Given the description of an element on the screen output the (x, y) to click on. 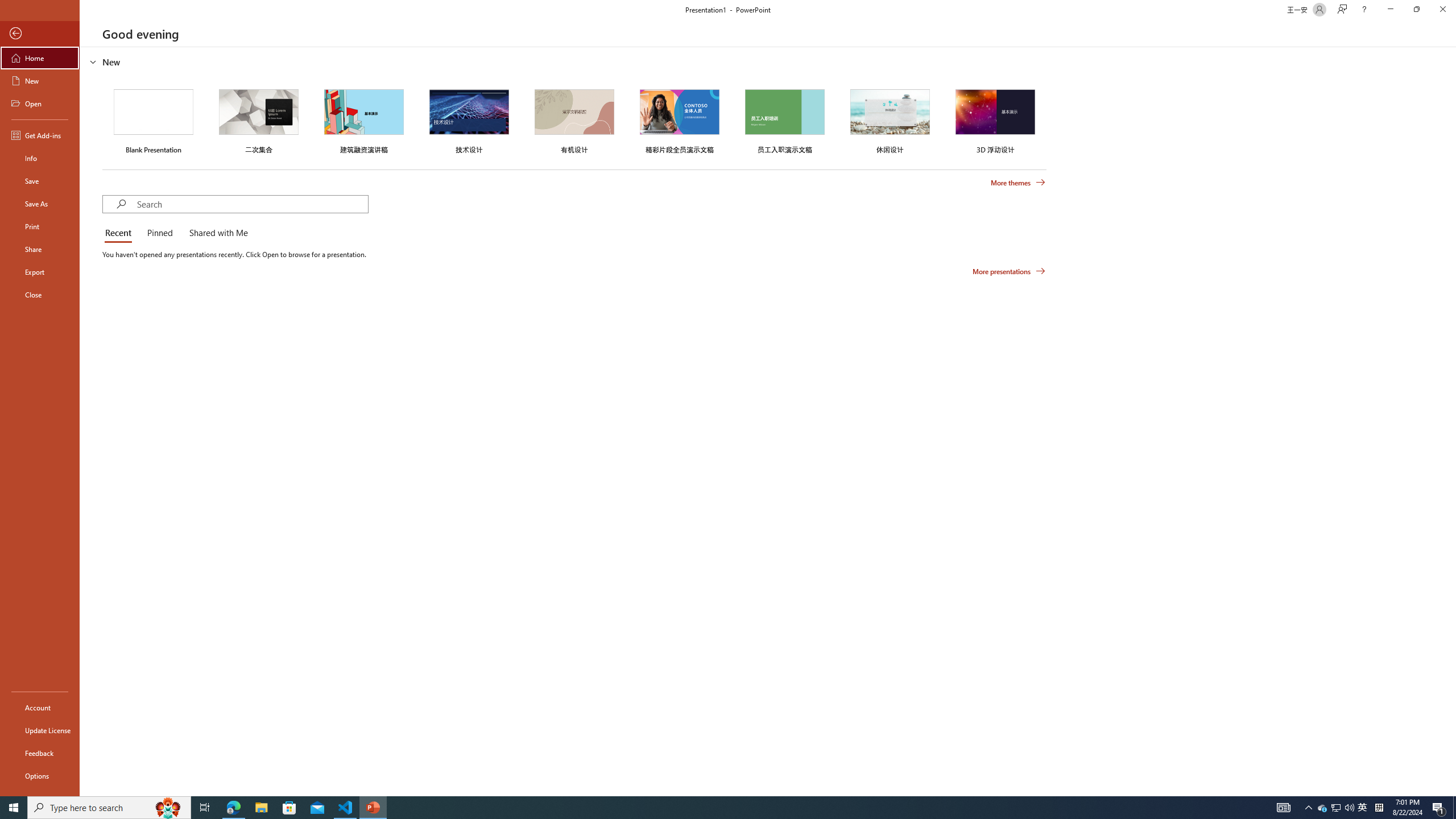
Class: NetUIScrollBar (1450, 421)
Back (40, 33)
Share (40, 248)
Pinned (159, 233)
Export (40, 271)
Print (40, 225)
Options (40, 775)
Recent (119, 233)
Save As (40, 203)
New (40, 80)
